Given the description of an element on the screen output the (x, y) to click on. 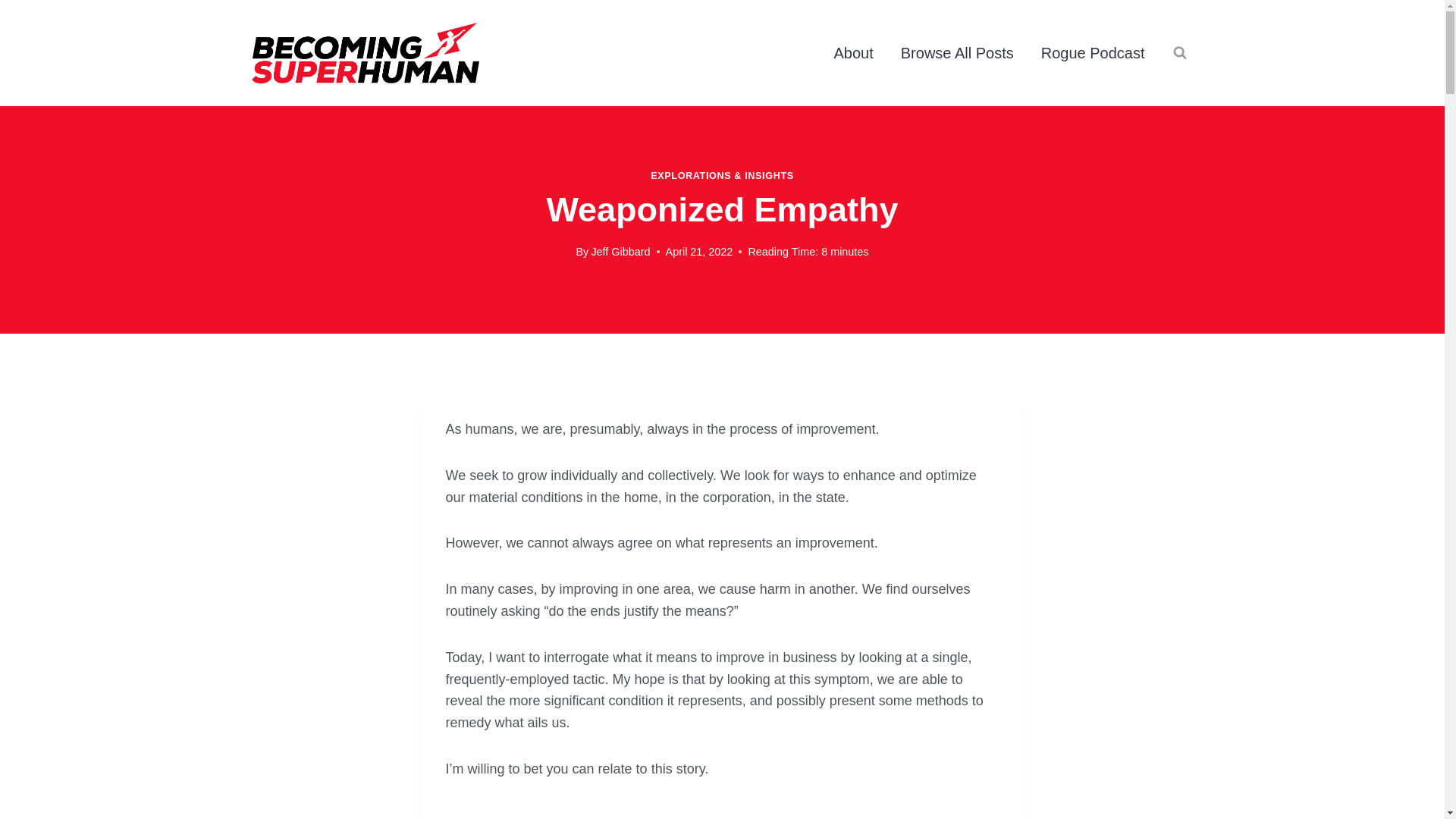
About (853, 53)
Jeff Gibbard (620, 251)
Browse All Posts (956, 53)
Rogue Podcast (1092, 53)
